Given the description of an element on the screen output the (x, y) to click on. 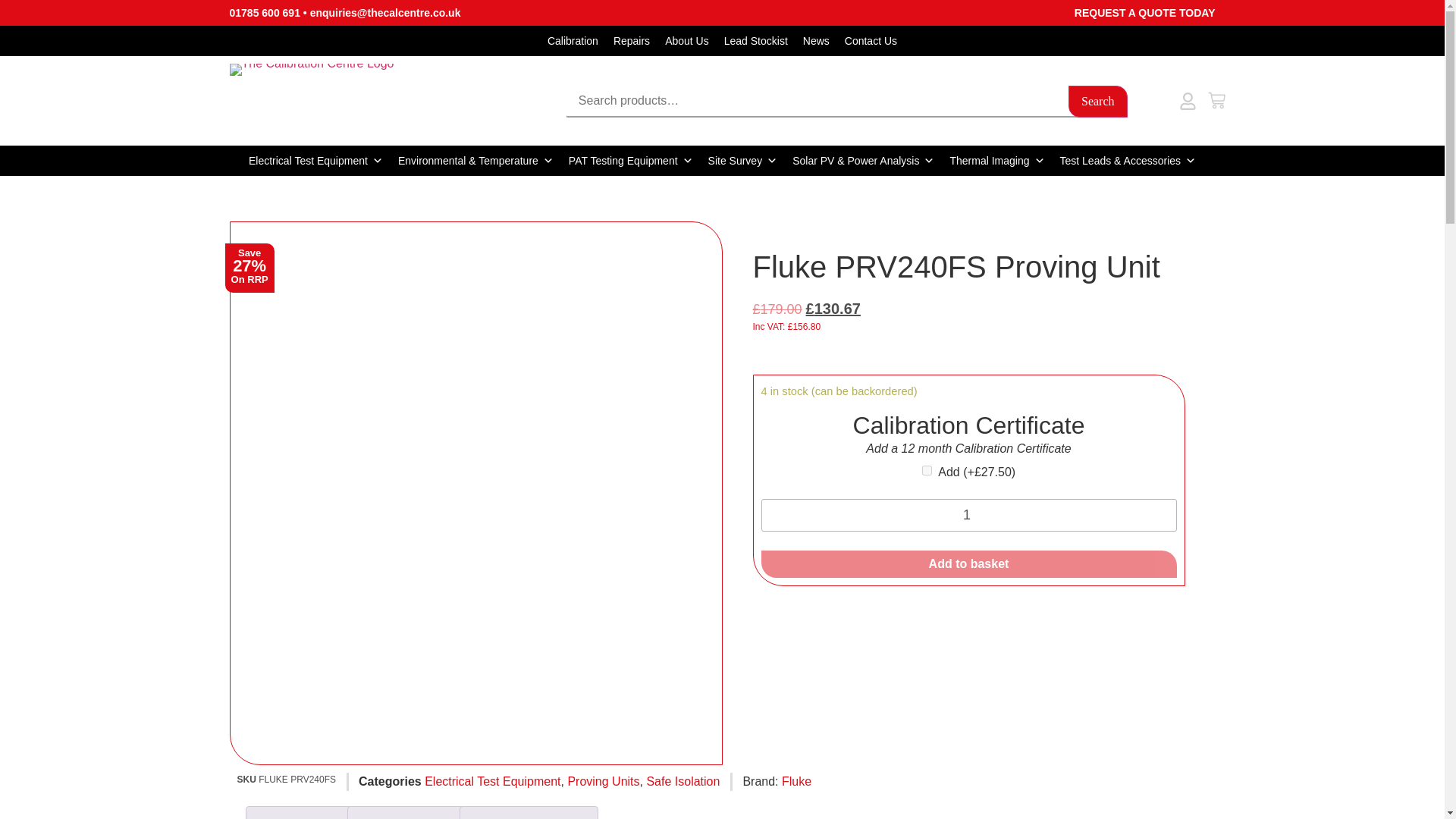
1 (968, 514)
REQUEST A QUOTE TODAY (1144, 12)
01785 600 691 (263, 12)
add (926, 470)
